Given the description of an element on the screen output the (x, y) to click on. 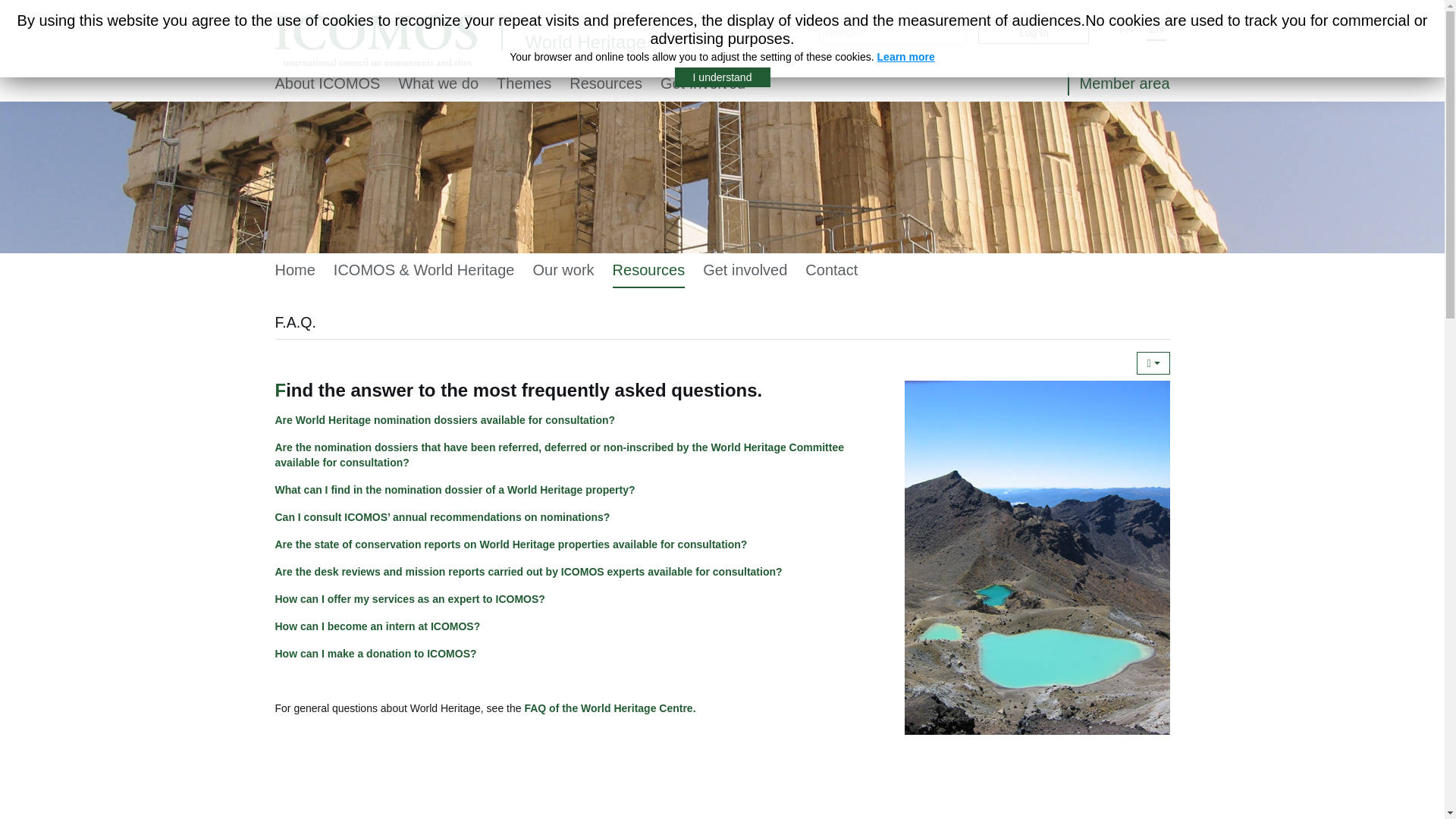
FR (1127, 28)
Log In (1033, 32)
What we do (438, 83)
About ICOMOS (327, 83)
